Given the description of an element on the screen output the (x, y) to click on. 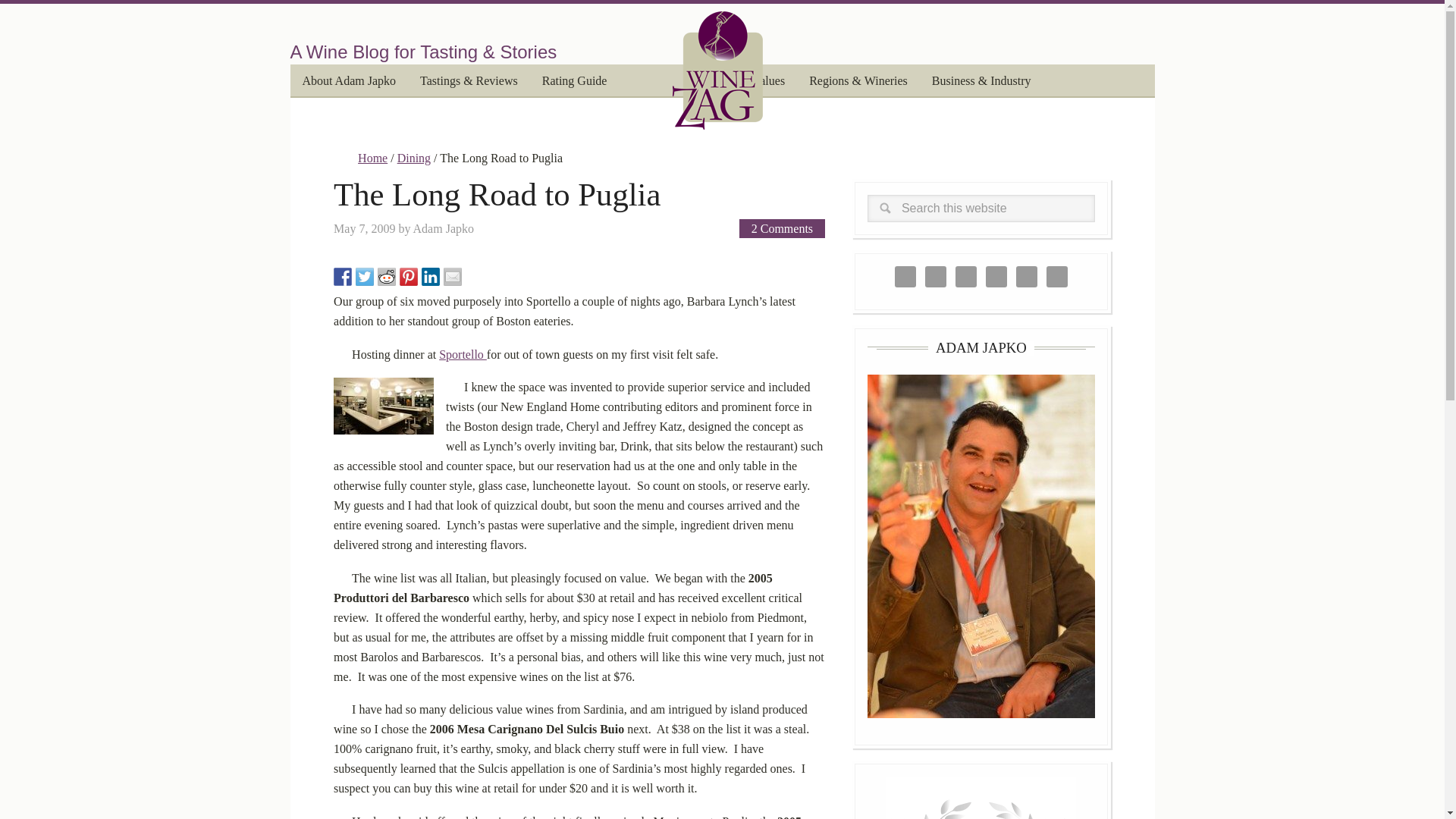
Share on Linkedin (430, 276)
Home (372, 157)
Pin it with Pinterest (407, 276)
Share on Facebook (342, 276)
Values (767, 81)
Share on Reddit (386, 276)
Adam Japko (443, 228)
Sportello (462, 354)
Share on Twitter (364, 276)
Rating Guide (574, 81)
About Adam Japko (348, 81)
2 Comments (782, 228)
Share by email (452, 276)
sportello (383, 405)
